Given the description of an element on the screen output the (x, y) to click on. 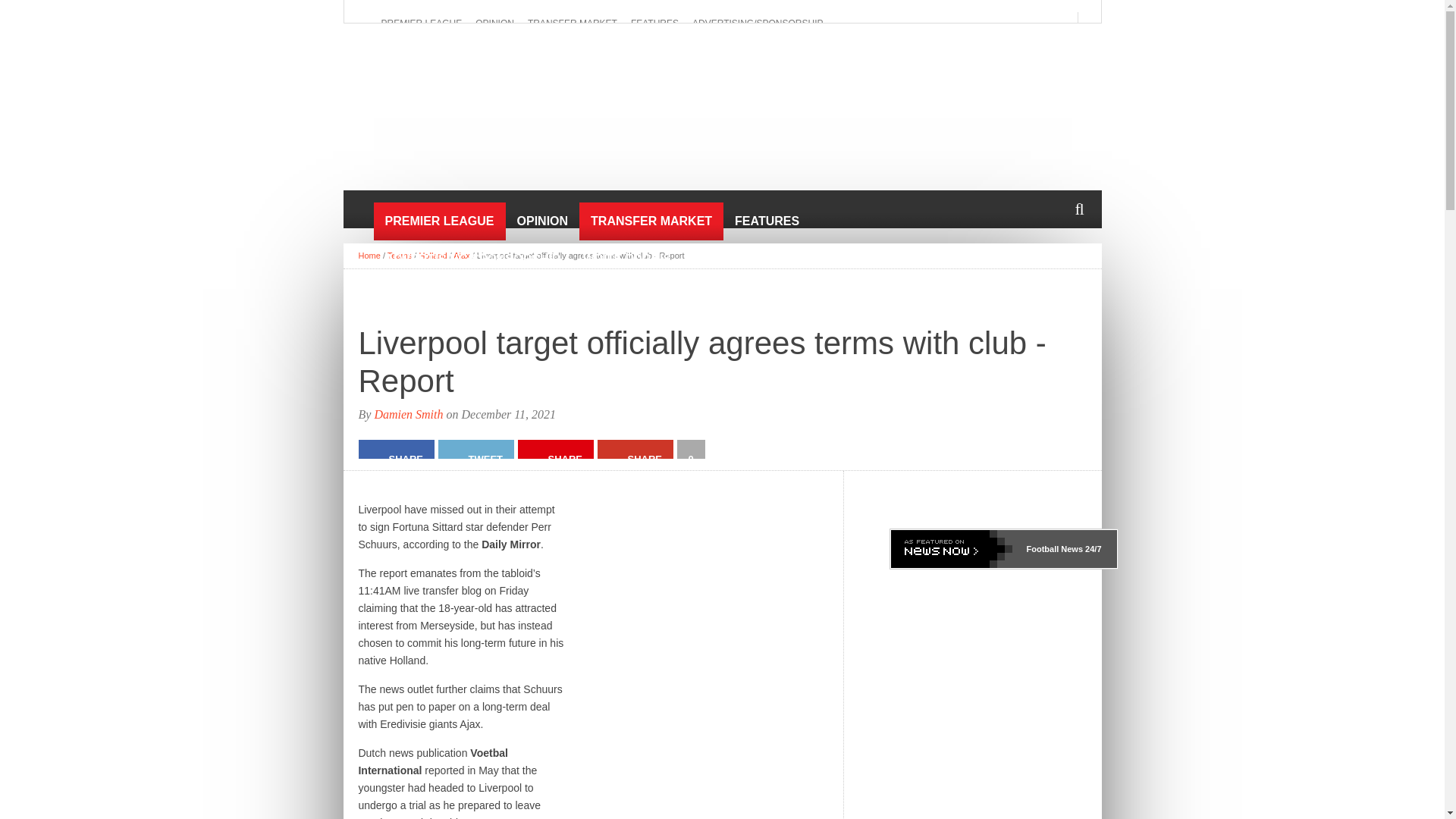
Click here for more Football news from NewsNow (1003, 548)
Posts by Damien Smith (408, 413)
